Given the description of an element on the screen output the (x, y) to click on. 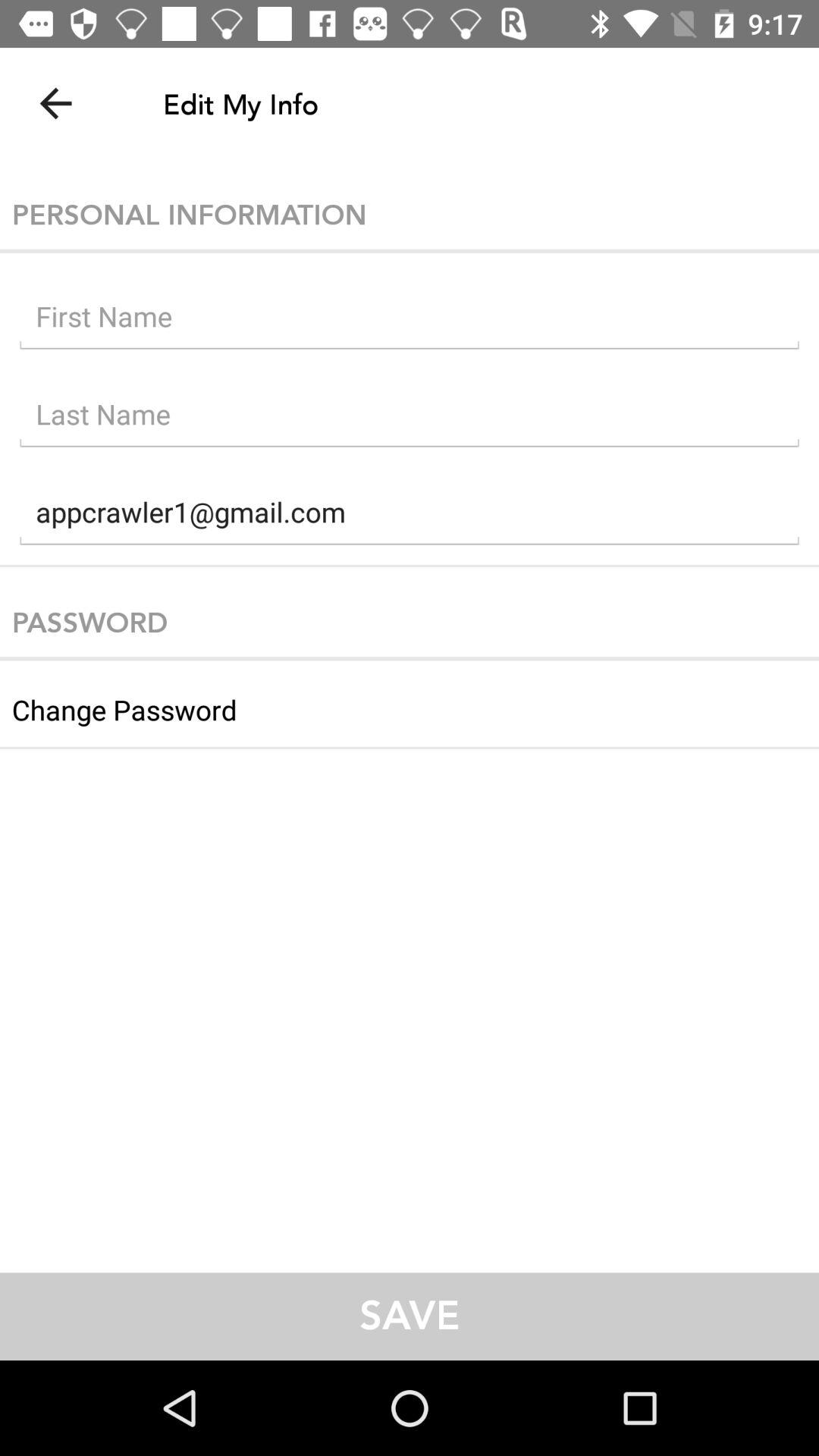
press appcrawler1@gmail.com item (409, 515)
